Given the description of an element on the screen output the (x, y) to click on. 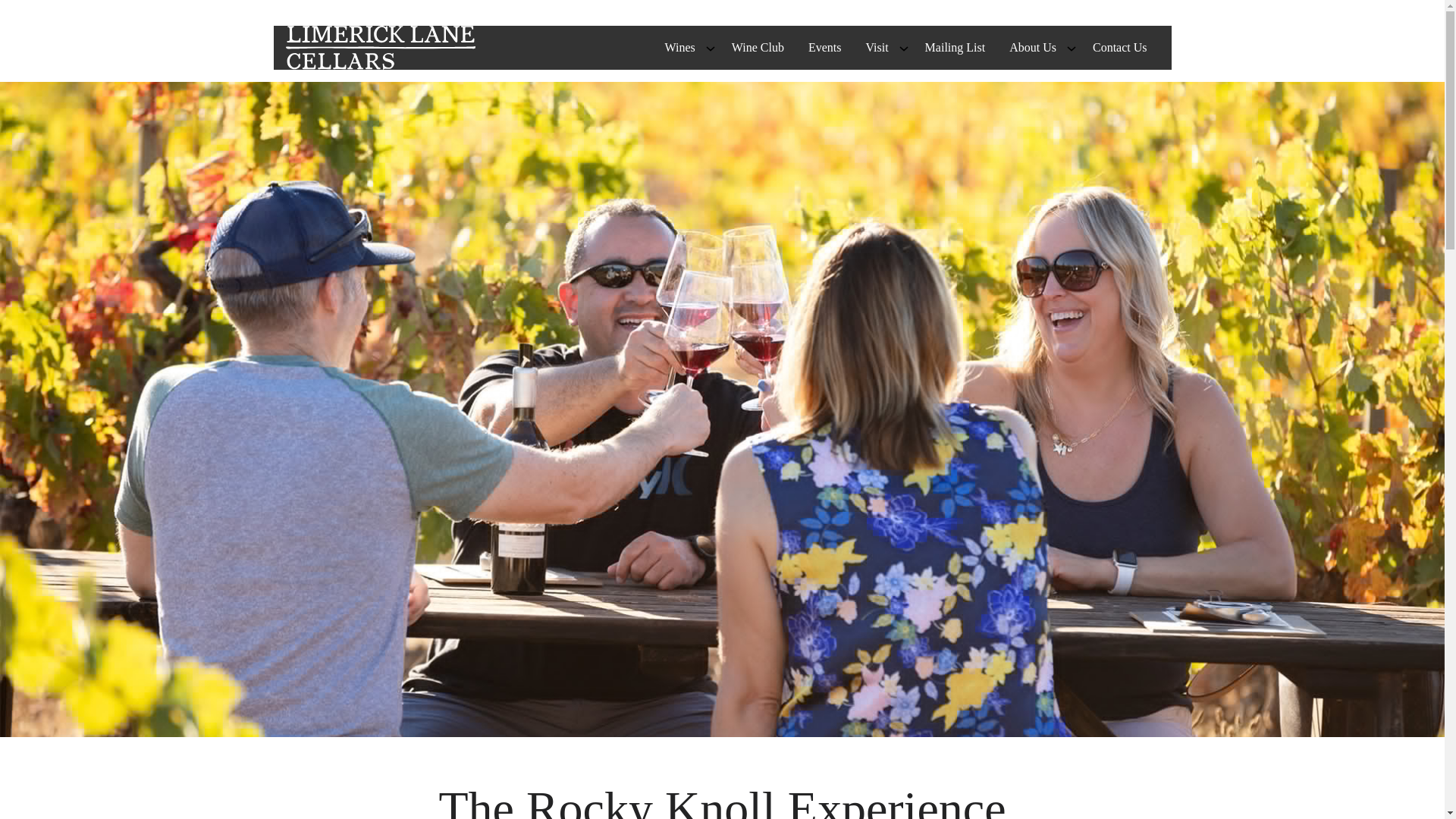
Wines (679, 47)
About Us (1032, 47)
Wine Club (757, 47)
Events (824, 47)
Contact Us (1119, 47)
Visit (876, 47)
Mailing List (954, 47)
